Given the description of an element on the screen output the (x, y) to click on. 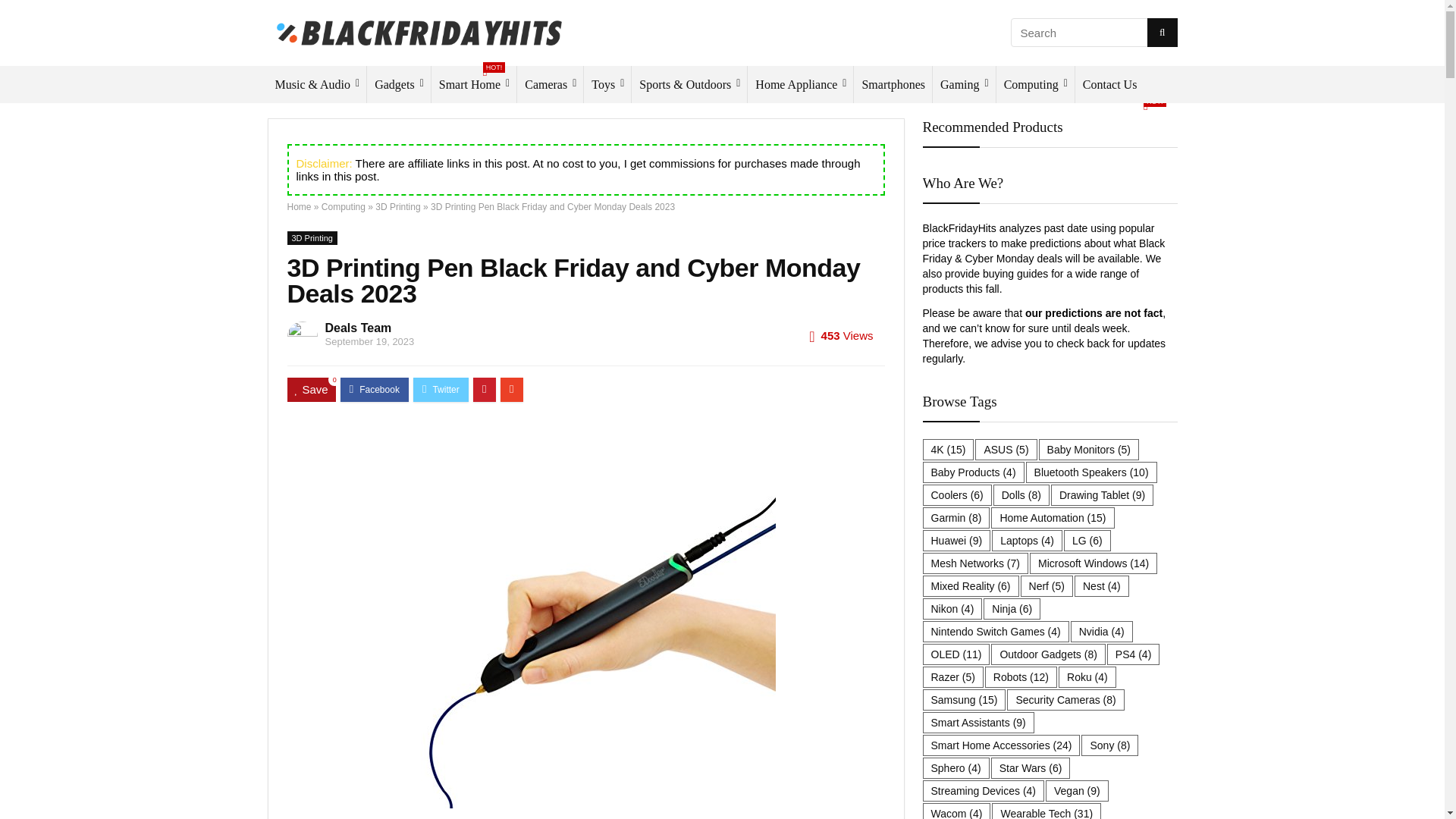
Home Appliance (800, 84)
View all posts in 3D Printing (311, 237)
Gadgets (398, 84)
Toys (606, 84)
Cameras (549, 84)
